Given the description of an element on the screen output the (x, y) to click on. 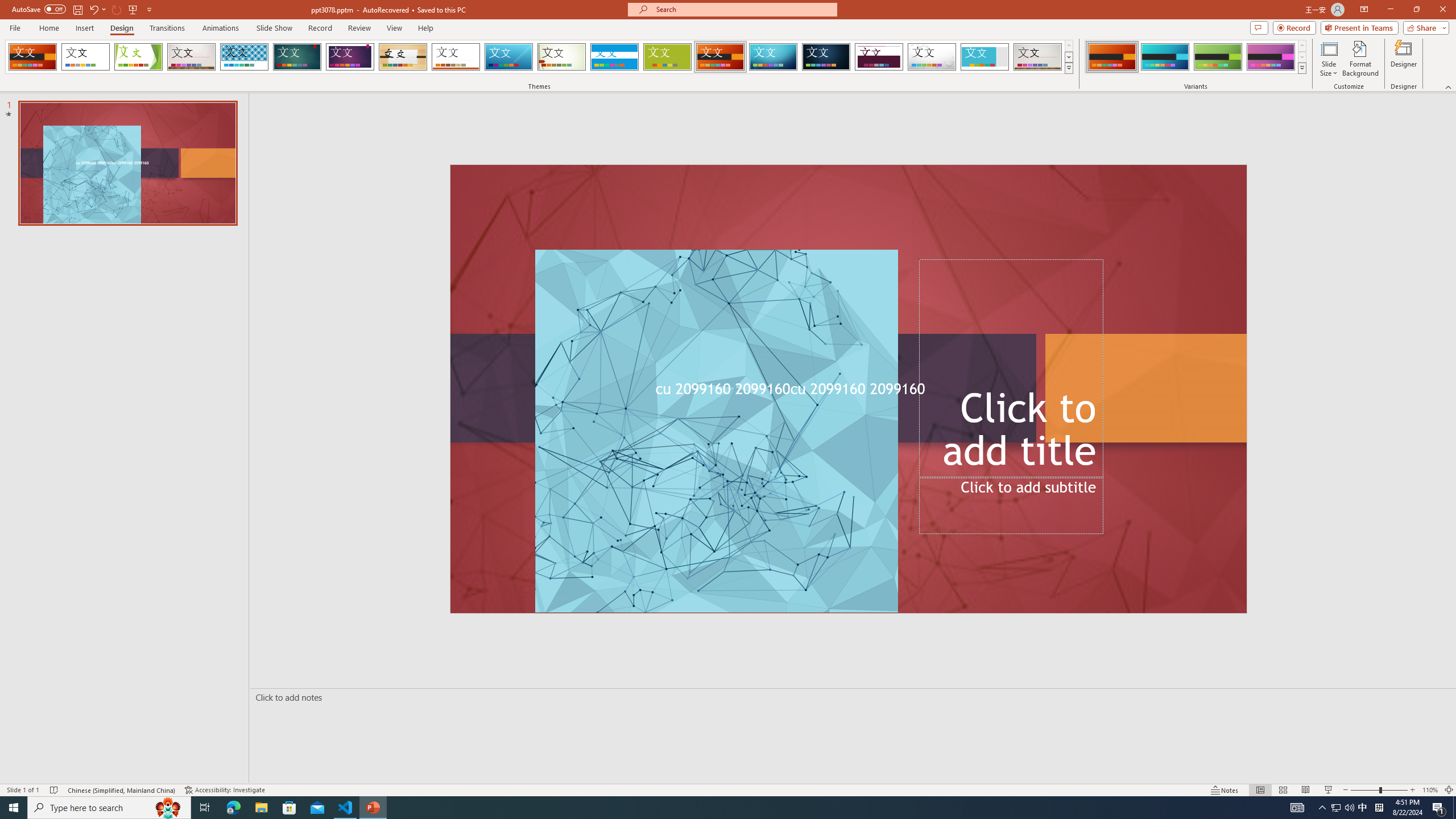
AutomationID: SlideThemesGallery (539, 56)
